Given the description of an element on the screen output the (x, y) to click on. 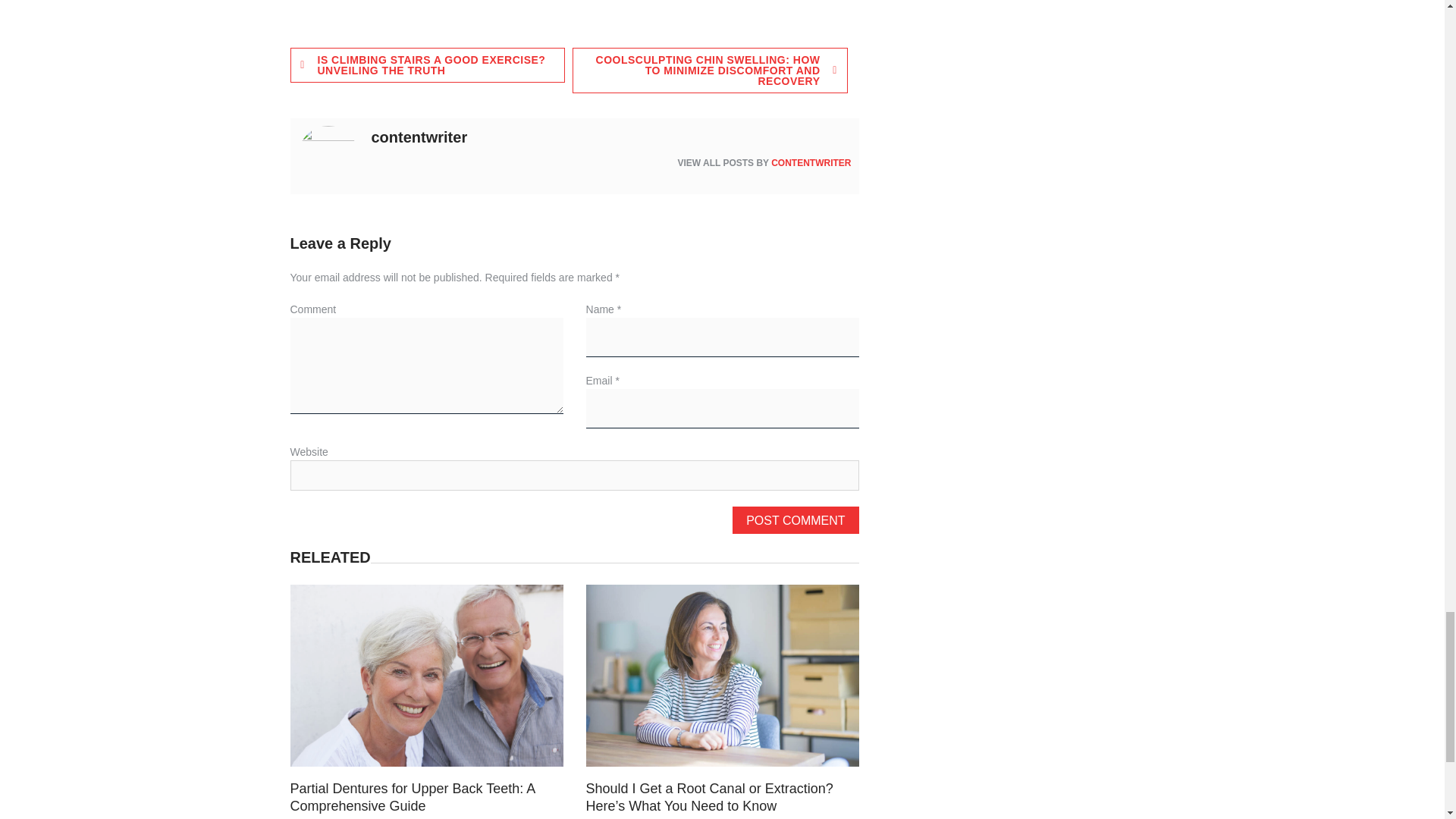
CONTENTWRITER (810, 163)
Partial Dentures for Upper Back Teeth: A Comprehensive Guide (411, 797)
Post Comment (795, 519)
IS CLIMBING STAIRS A GOOD EXERCISE? UNVEILING THE TRUTH (426, 64)
Post Comment (795, 519)
